Given the description of an element on the screen output the (x, y) to click on. 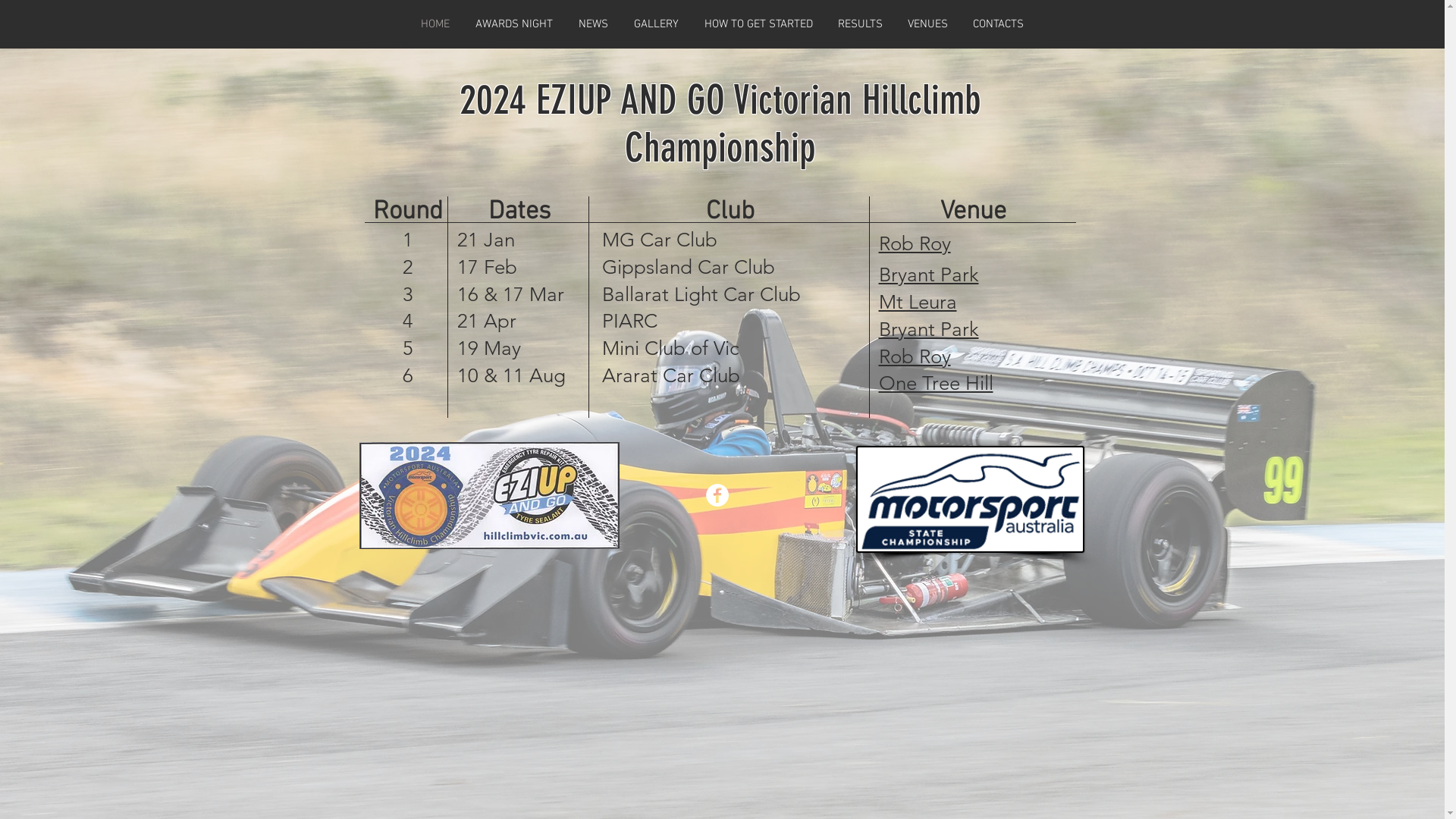
AWARDS NIGHT Element type: text (513, 24)
RESULTS Element type: text (859, 24)
Rob Roy Element type: text (914, 358)
Mt Leura Element type: text (917, 303)
HOW TO GET STARTED Element type: text (758, 24)
HOME Element type: text (434, 24)
GALLERY Element type: text (655, 24)
NEWS Element type: text (593, 24)
CONTACTS Element type: text (997, 24)
VENUES Element type: text (927, 24)
Bryant Park Element type: text (928, 330)
Rob Roy Element type: text (914, 243)
Bryant Park Element type: text (928, 276)
One Tree Hill Element type: text (935, 384)
